Given the description of an element on the screen output the (x, y) to click on. 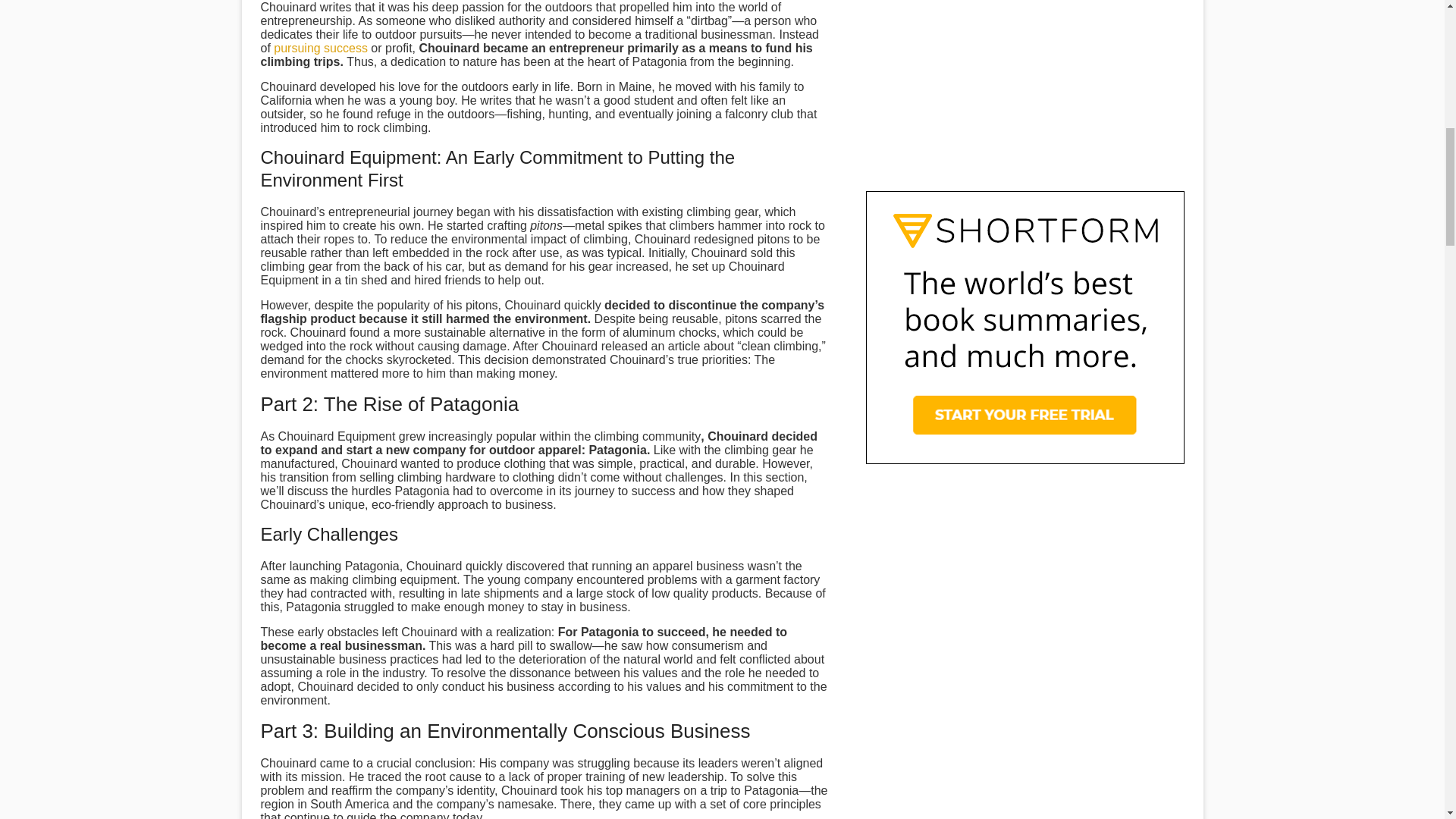
pursuing success (320, 47)
